Given the description of an element on the screen output the (x, y) to click on. 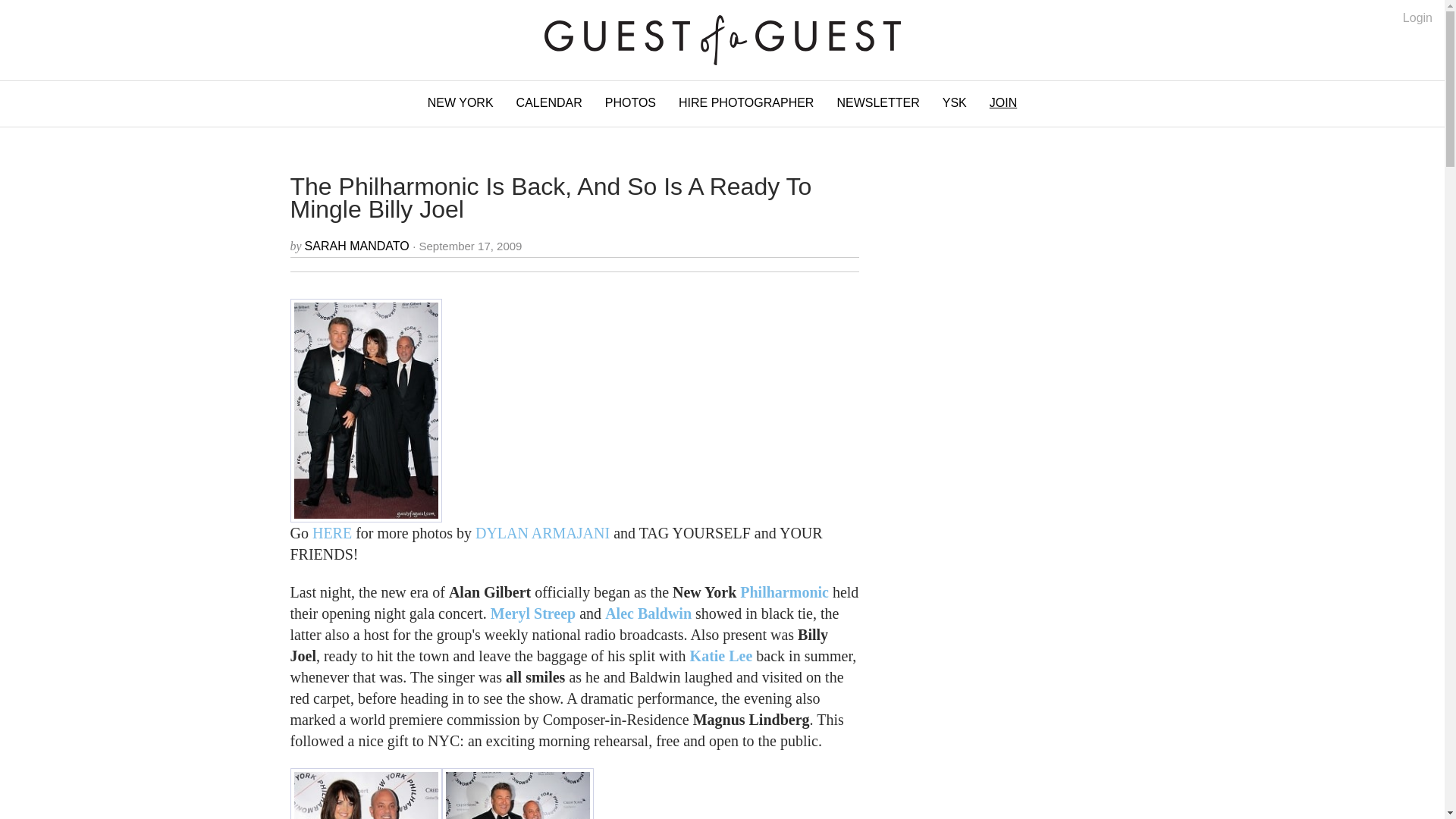
PHOTOS (630, 103)
Login (1417, 17)
YSK (954, 103)
Billy Joel (365, 793)
Philharmonic (783, 591)
NEWSLETTER (877, 103)
Meryl Streep (532, 613)
HERE (332, 532)
Katie Lee (721, 655)
NEW YORK (460, 103)
